Given the description of an element on the screen output the (x, y) to click on. 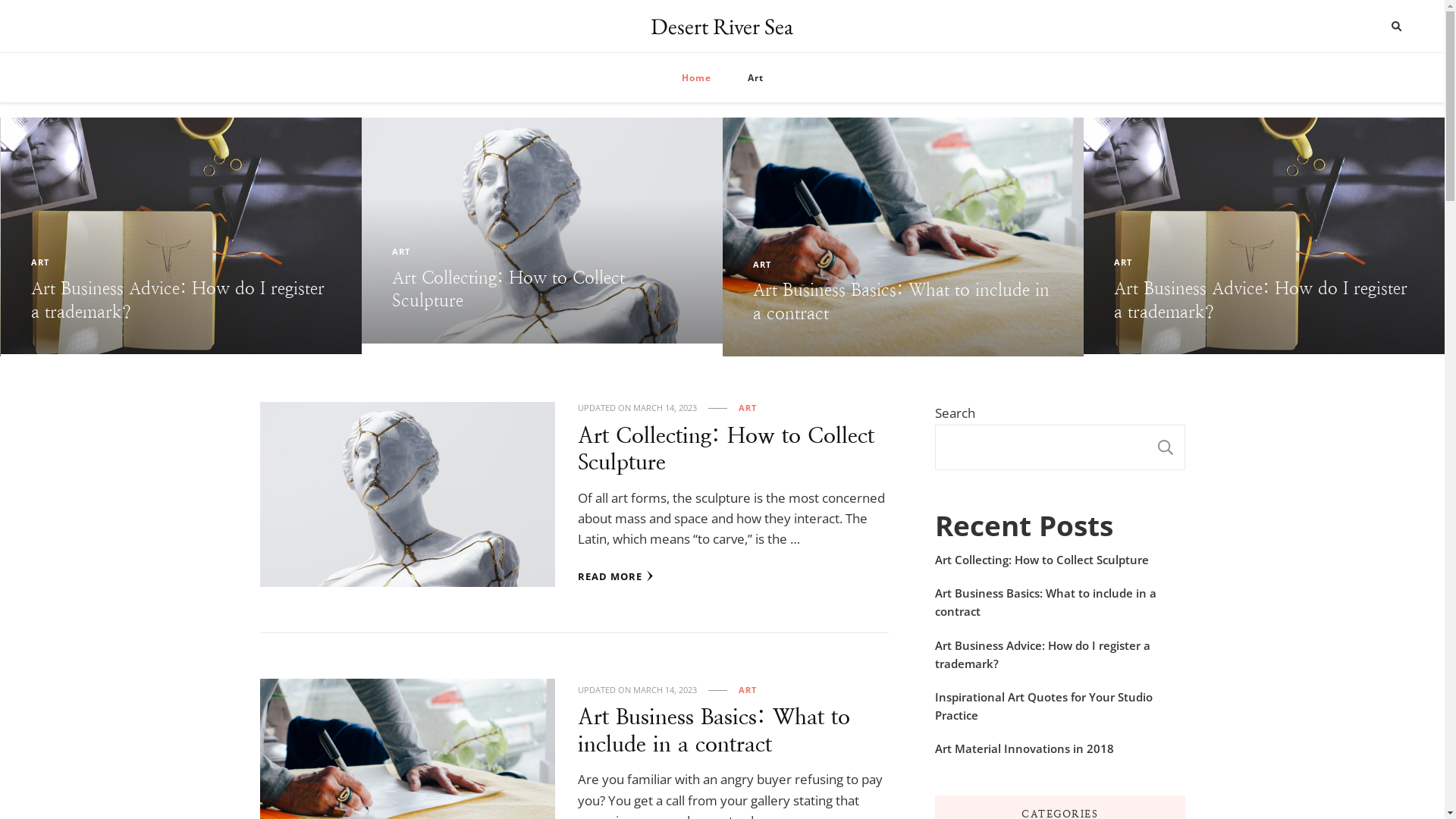
ART Element type: text (400, 261)
READ MORE Element type: text (615, 576)
ART Element type: text (39, 264)
Inspirational Art Quotes for Your Studio Practice Element type: text (1059, 705)
Art Business Advice: How do I register a trademark? Element type: text (537, 299)
ART Element type: text (747, 407)
Search Element type: text (1368, 26)
Art Element type: text (755, 77)
MARCH 14, 2023 Element type: text (664, 690)
ART Element type: text (1122, 264)
Art Business Advice: How do I register a trademark? Element type: text (1059, 654)
Art Business Basics: What to include in a contract Element type: text (1261, 301)
ART Element type: text (762, 251)
Home Element type: text (695, 77)
Art Business Basics: What to include in a contract Element type: text (1059, 601)
SEARCH Element type: text (1165, 447)
Art Business Basics: What to include in a contract Element type: text (713, 730)
Art Collecting: How to Collect Sculpture Element type: text (869, 288)
Desert River Sea Element type: text (721, 25)
Art Business Basics: What to include in a contract Element type: text (178, 301)
ART Element type: text (747, 690)
Art Collecting: How to Collect Sculpture Element type: text (725, 448)
MARCH 14, 2023 Element type: text (664, 407)
Art Material Innovations in 2018 Element type: text (1023, 748)
Art Collecting: How to Collect Sculpture Element type: text (1041, 559)
